Given the description of an element on the screen output the (x, y) to click on. 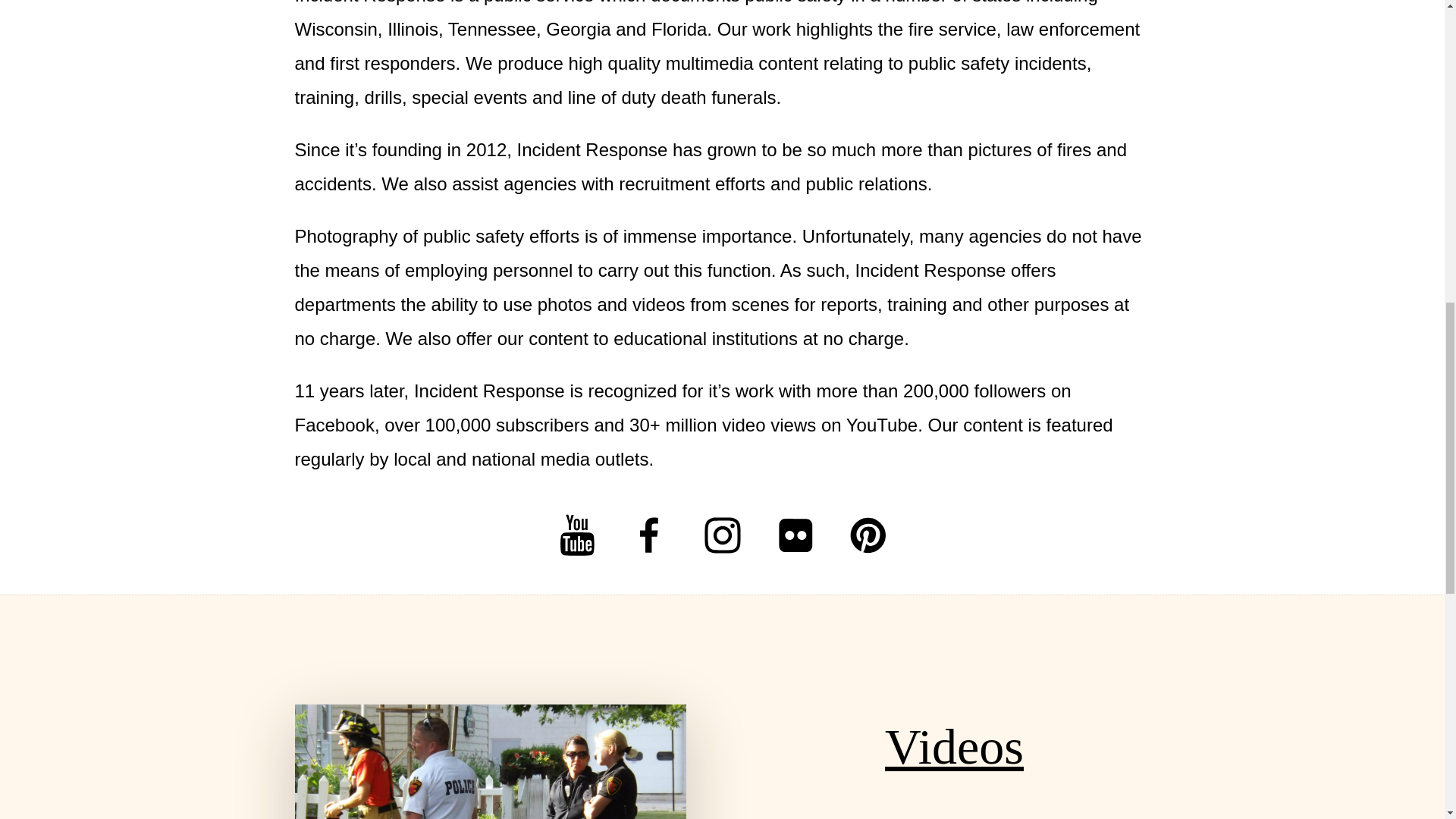
Videos (954, 746)
